Given the description of an element on the screen output the (x, y) to click on. 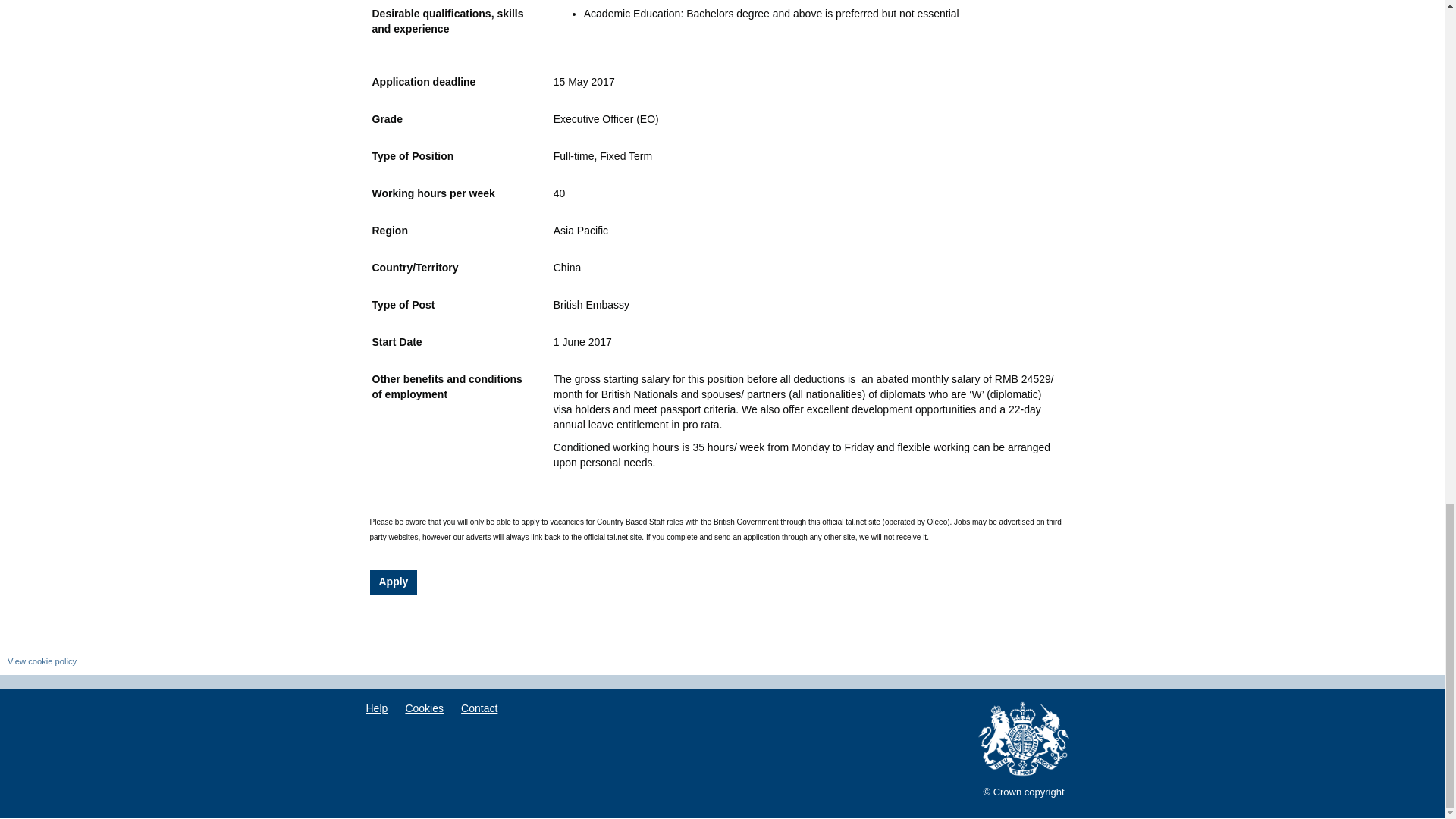
Apply (393, 582)
Help (376, 708)
View cookie policy (42, 660)
Apply (393, 582)
Contact (478, 708)
Cookies (424, 708)
